Given the description of an element on the screen output the (x, y) to click on. 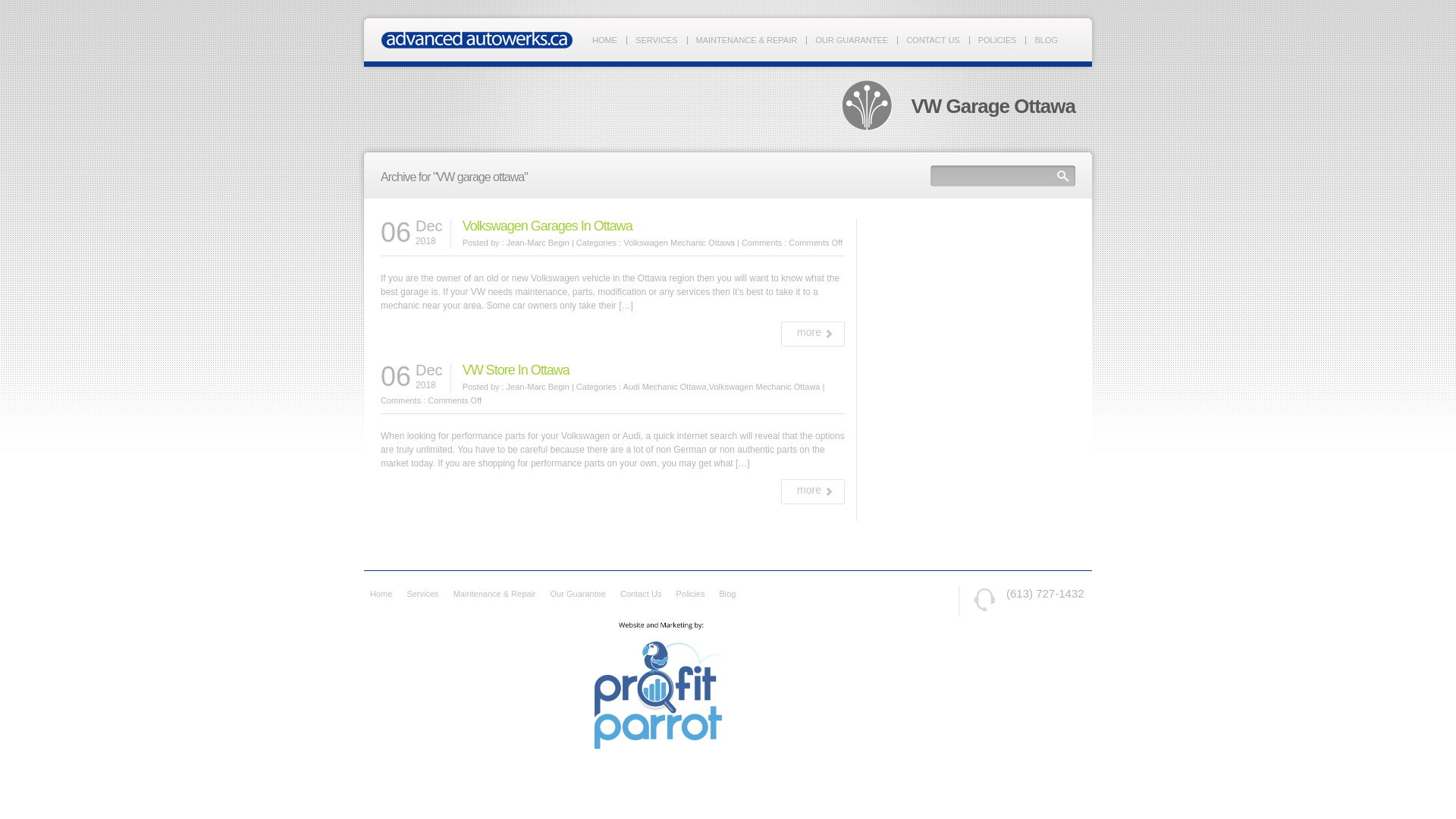
SERVICES (655, 40)
POLICIES (997, 40)
Volkswagen Garages In Ottawa (547, 225)
Audi Mechanic Ottawa (664, 386)
Posts by Jean-Marc Begin (537, 242)
Jean-Marc Begin (537, 386)
Volkswagen Mechanic Ottawa (765, 386)
OUR GUARANTEE (851, 40)
HOME (604, 40)
more (814, 331)
Jean-Marc Begin (537, 242)
Volkswagen Mechanic Ottawa (679, 242)
Posts by Jean-Marc Begin (537, 386)
VW Store In Ottawa (516, 369)
CONTACT US (932, 40)
